Given the description of an element on the screen output the (x, y) to click on. 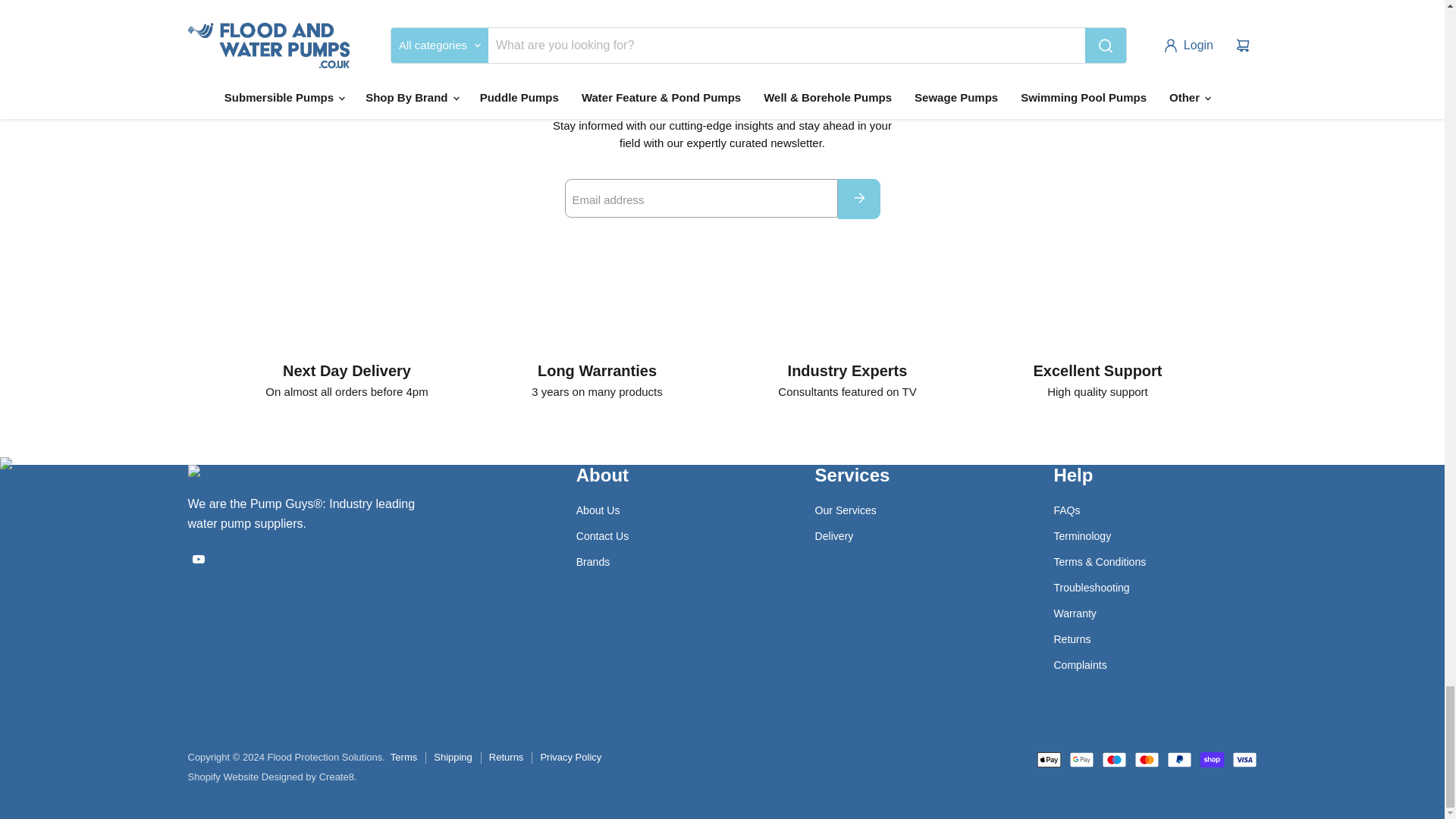
ARROW-RIGHT (857, 198)
Apple Pay (1048, 759)
Google Pay (1081, 759)
YouTube (198, 558)
Maestro (1112, 759)
